Given the description of an element on the screen output the (x, y) to click on. 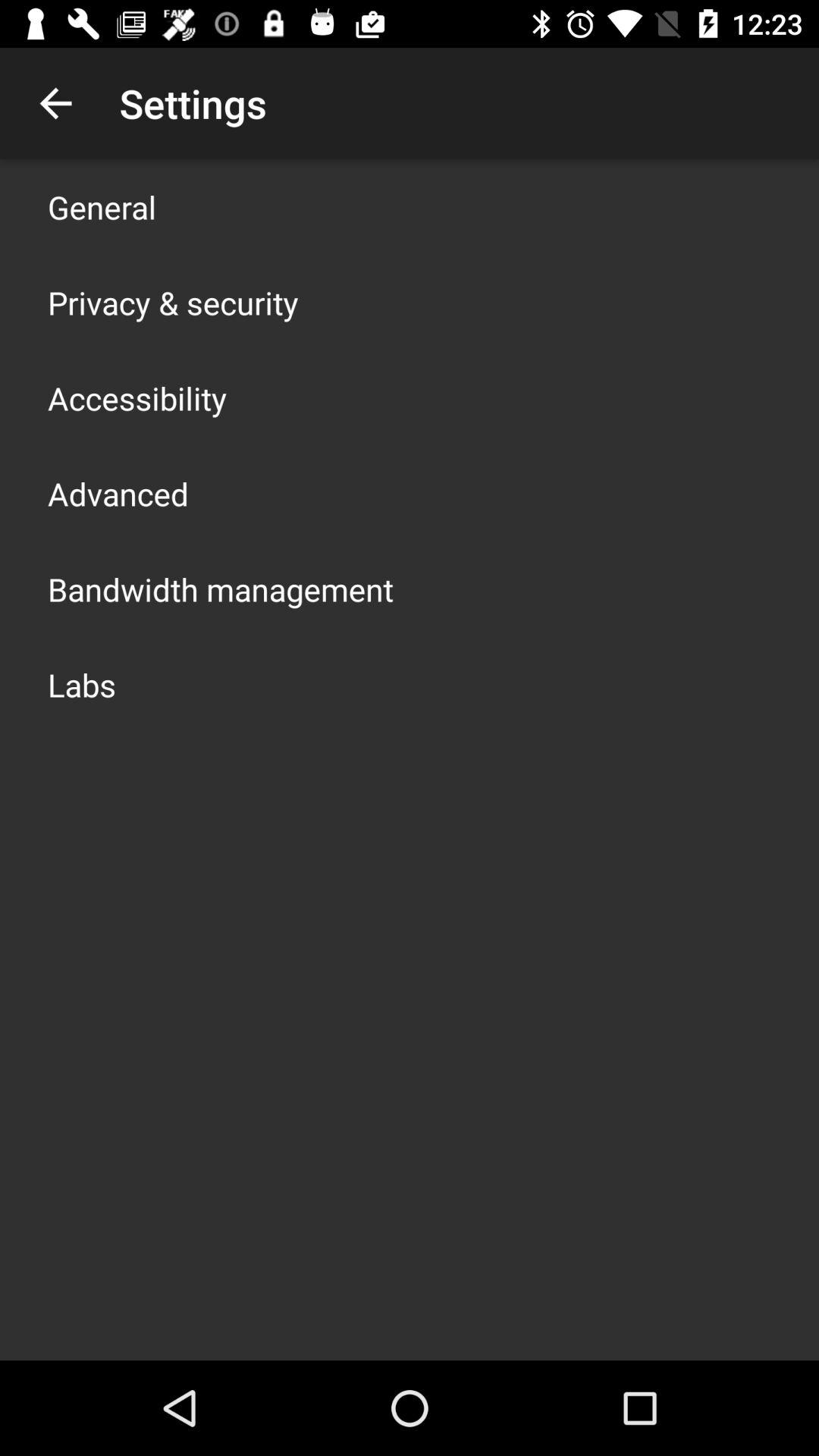
launch the app above the general item (55, 103)
